Given the description of an element on the screen output the (x, y) to click on. 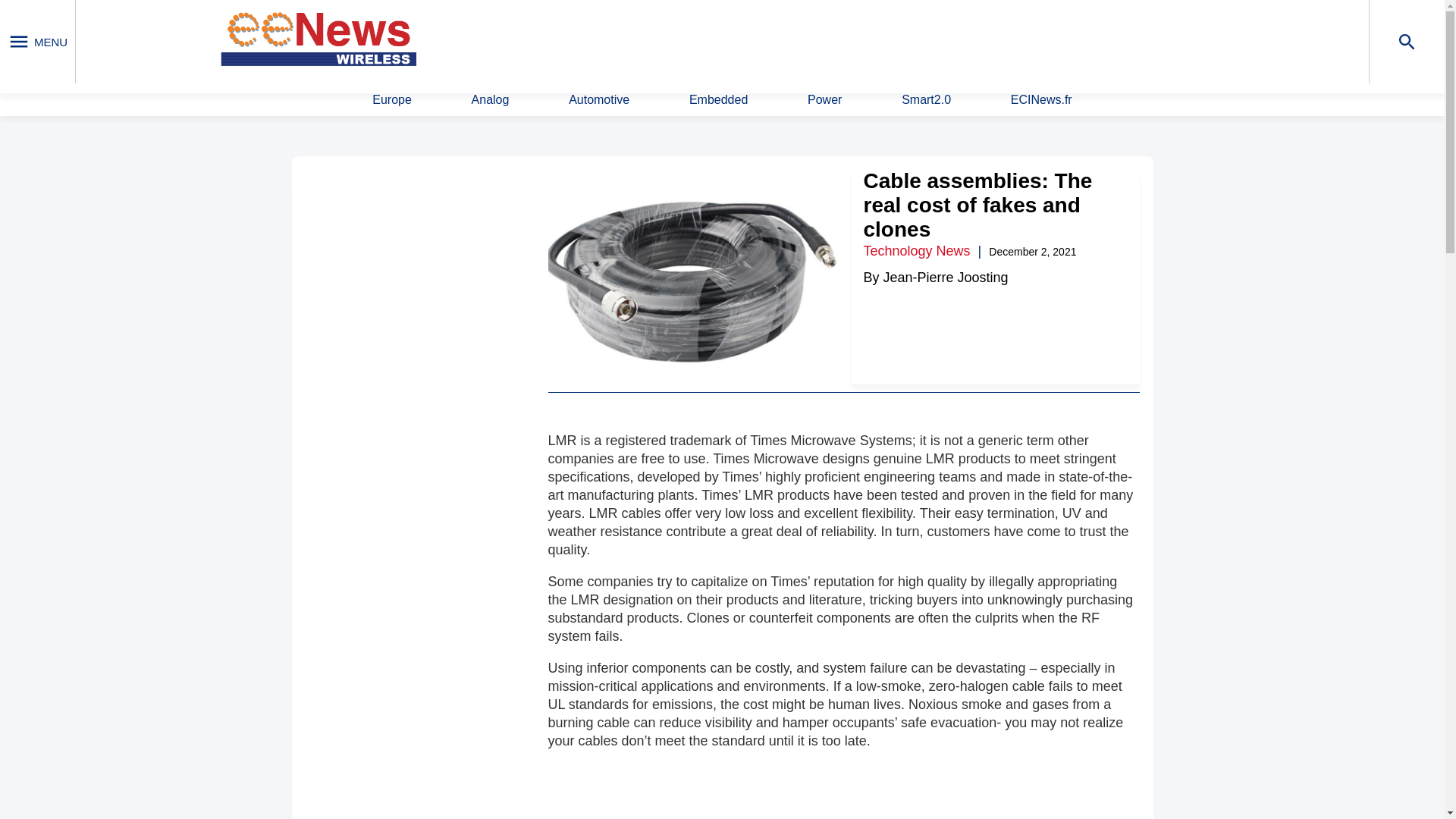
ECINews.fr (1040, 99)
Europe (392, 99)
Search (949, 40)
Automotive (598, 99)
Analog (490, 99)
Smart2.0 (925, 99)
Embedded (718, 99)
Power (824, 99)
